Given the description of an element on the screen output the (x, y) to click on. 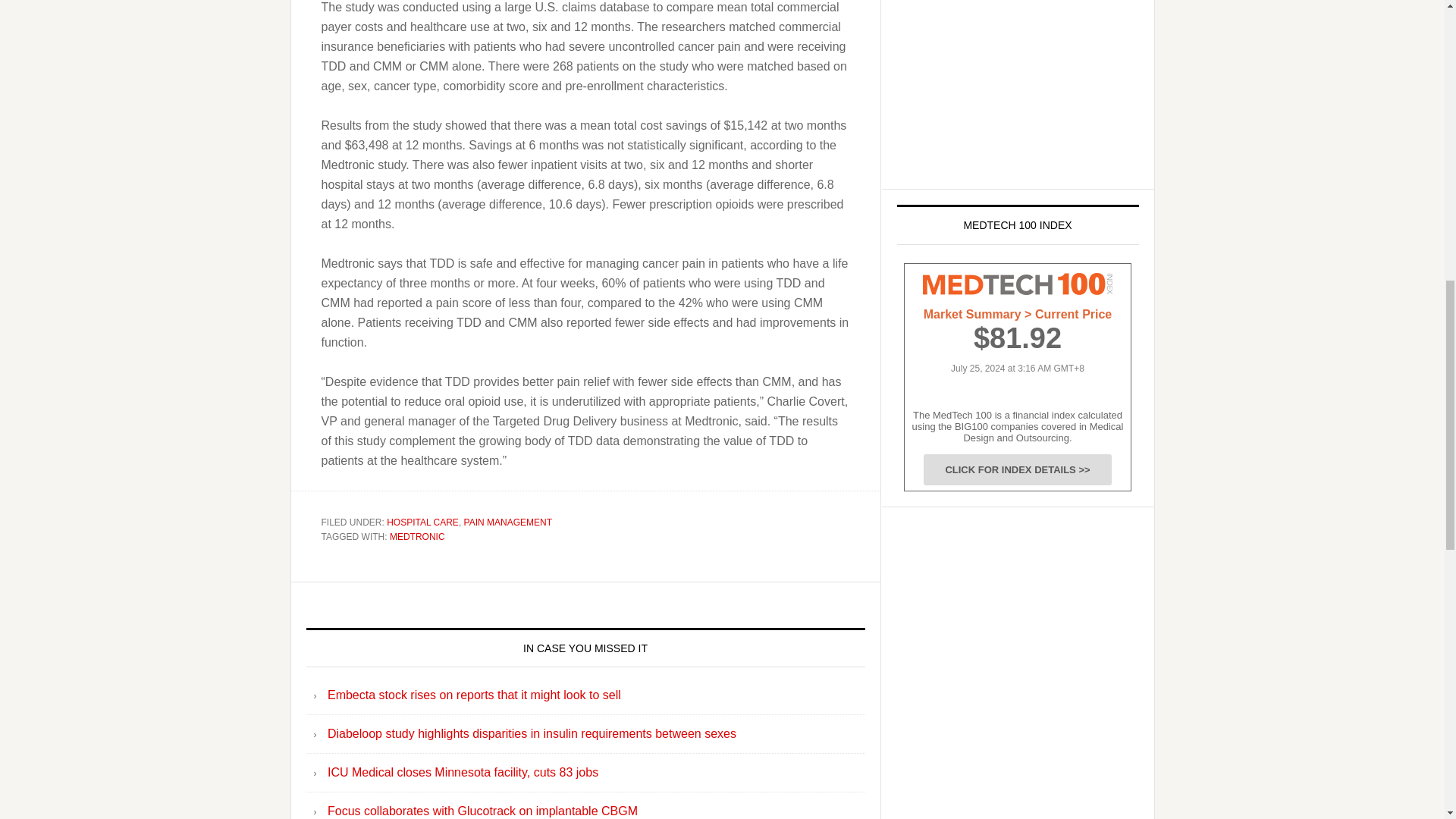
3rd party ad content (1010, 86)
MEDTRONIC (417, 536)
Embecta stock rises on reports that it might look to sell (474, 694)
PAIN MANAGEMENT (507, 521)
HOSPITAL CARE (422, 521)
Focus collaborates with Glucotrack on implantable CBGM (482, 810)
ICU Medical closes Minnesota facility, cuts 83 jobs (462, 771)
